Given the description of an element on the screen output the (x, y) to click on. 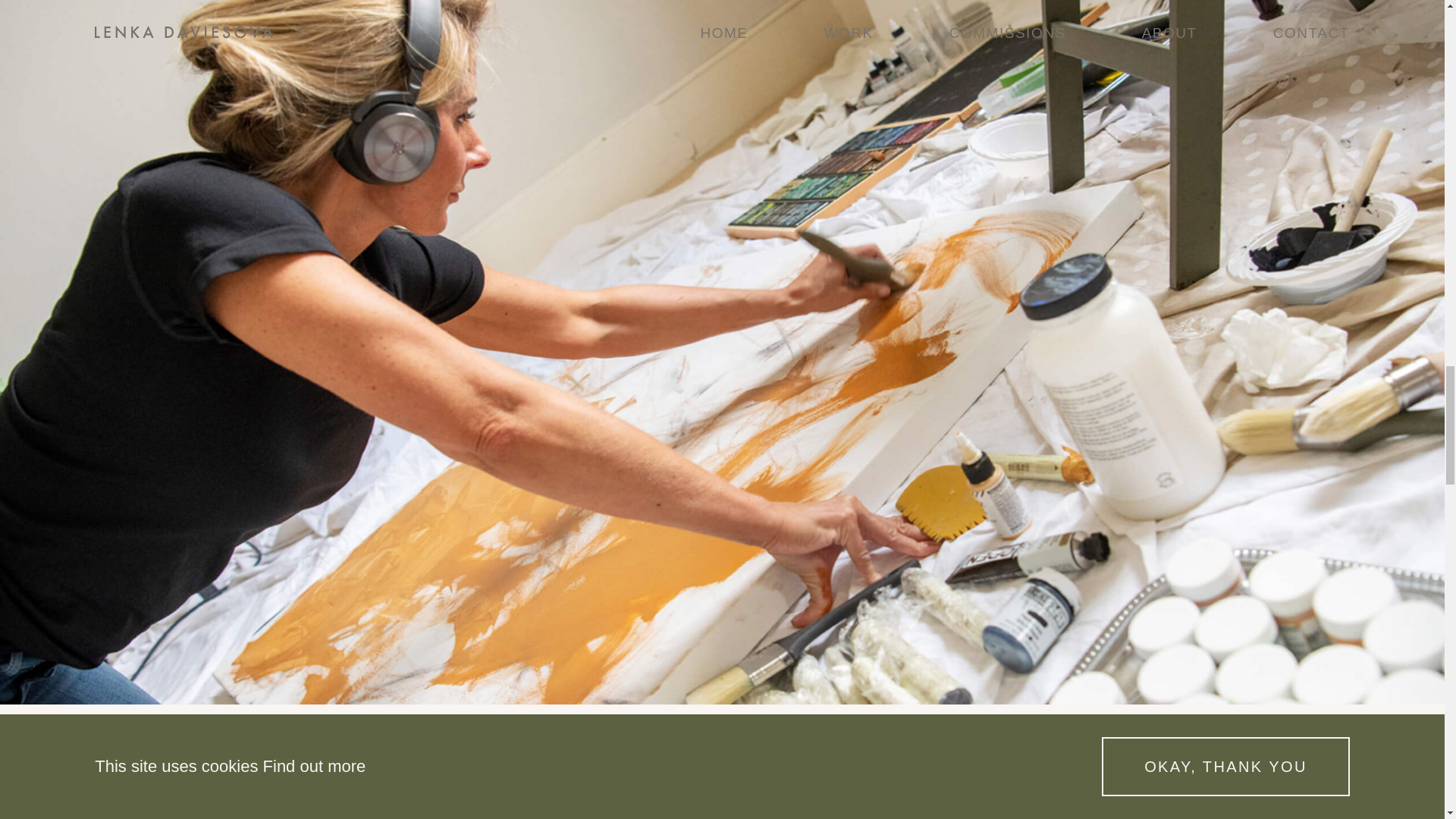
CONTACT ME (721, 446)
